Given the description of an element on the screen output the (x, y) to click on. 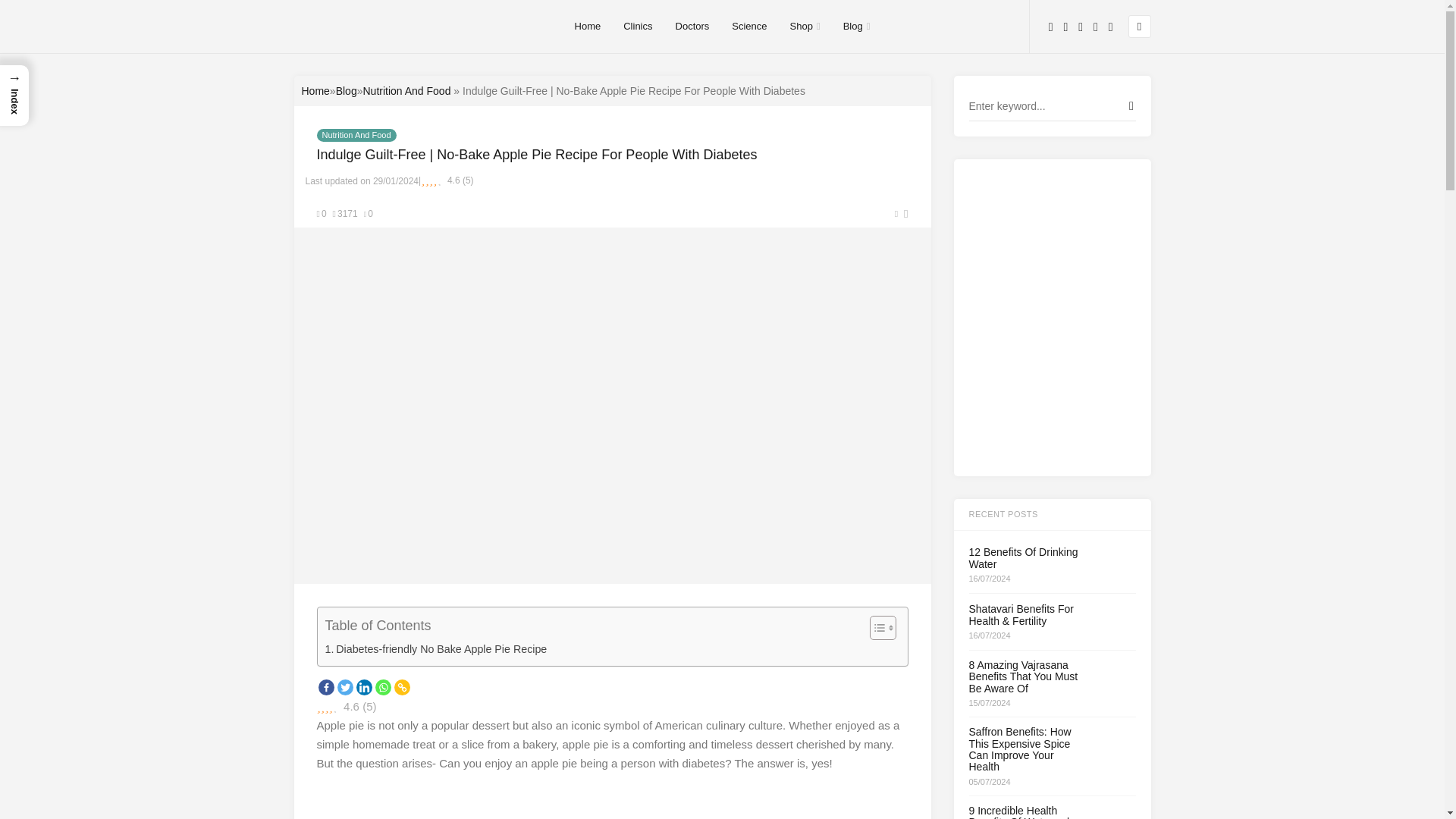
0 (368, 213)
Nutrition And Food (356, 134)
Home (315, 91)
Copy Link (402, 687)
0 (321, 213)
Diabetes-friendly No Bake Apple Pie Recipe (435, 649)
Nutrition And Food (405, 91)
Facebook (326, 687)
3171 (345, 213)
Twitter (344, 687)
Whatsapp (382, 687)
Blog (346, 91)
Linkedin (364, 687)
